Given the description of an element on the screen output the (x, y) to click on. 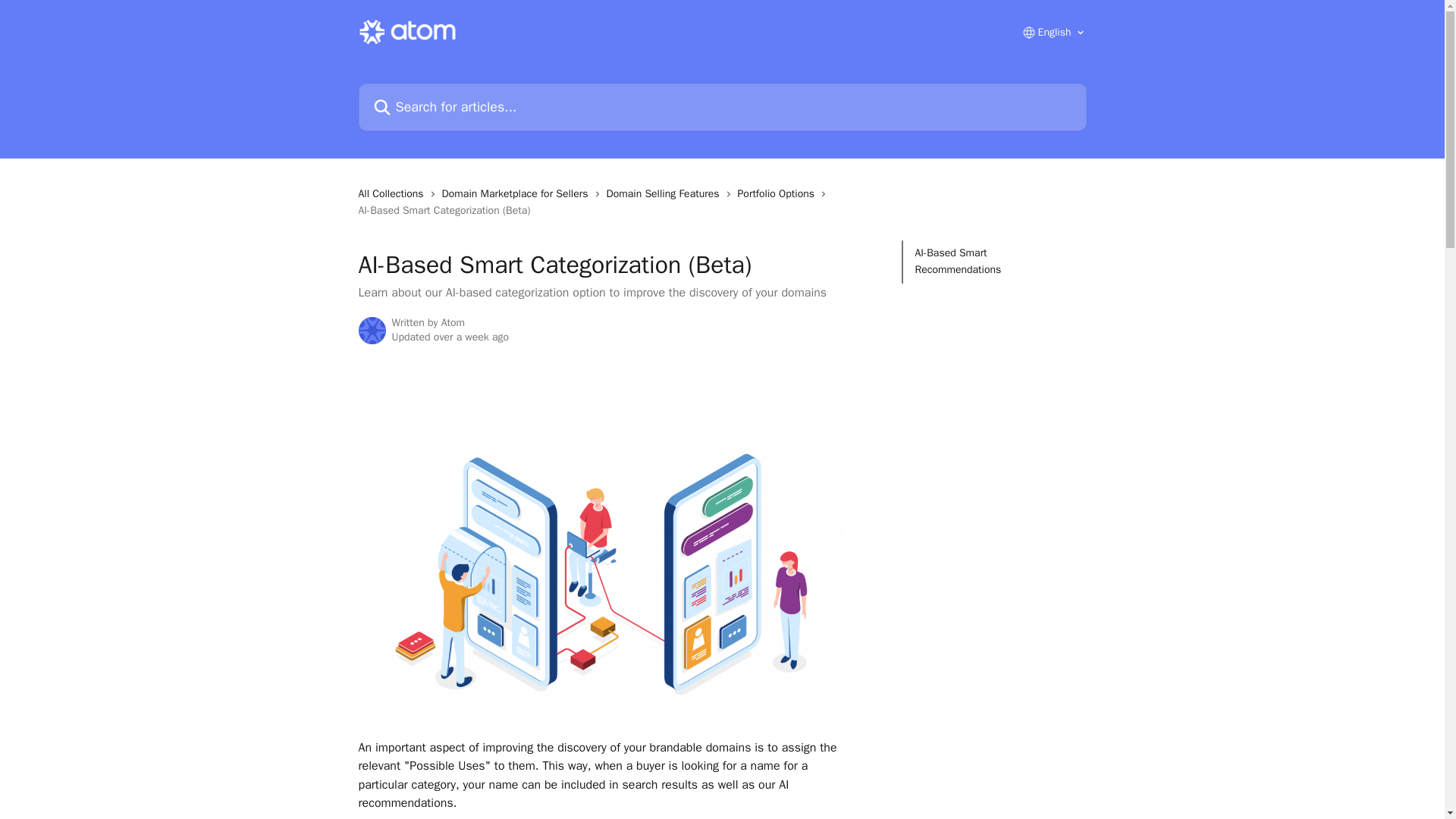
Portfolio Options (779, 193)
AI-Based Smart Recommendations (994, 261)
Domain Selling Features (666, 193)
Domain Marketplace for Sellers (518, 193)
All Collections (393, 193)
